Given the description of an element on the screen output the (x, y) to click on. 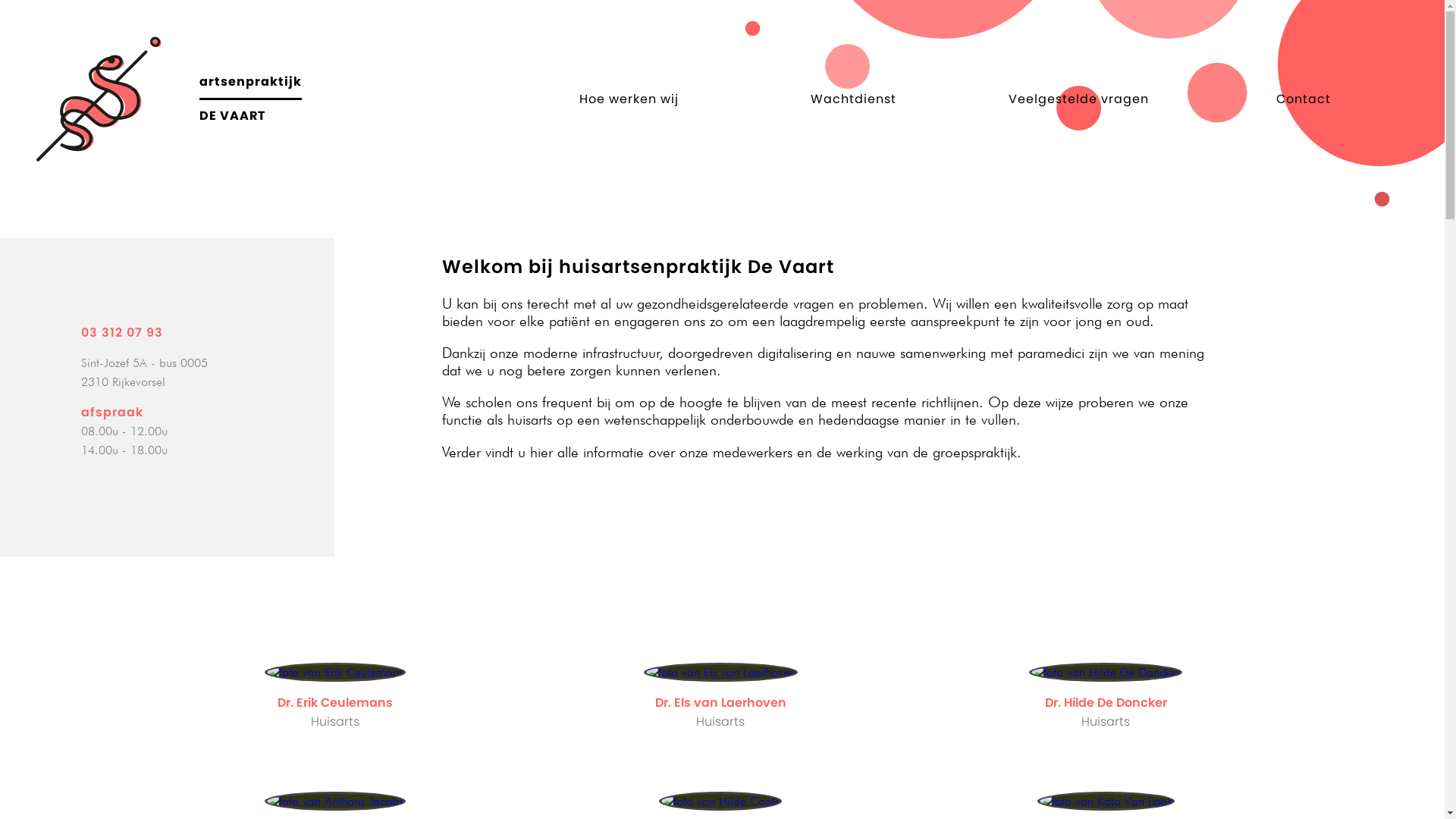
artsenpraktijk
DE VAART Element type: text (185, 98)
Dr. Els van Laerhoven
Huisarts Element type: text (721, 696)
Dr. Hilde De Doncker
Huisarts Element type: text (1106, 696)
Dr. Erik Ceulemans
Huisarts Element type: text (336, 696)
Wachtdienst Element type: text (853, 98)
03 312 07 93 Element type: text (122, 332)
Hoe werken wij Element type: text (628, 98)
Contact Element type: text (1302, 98)
Veelgestelde vragen Element type: text (1078, 98)
